Given the description of an element on the screen output the (x, y) to click on. 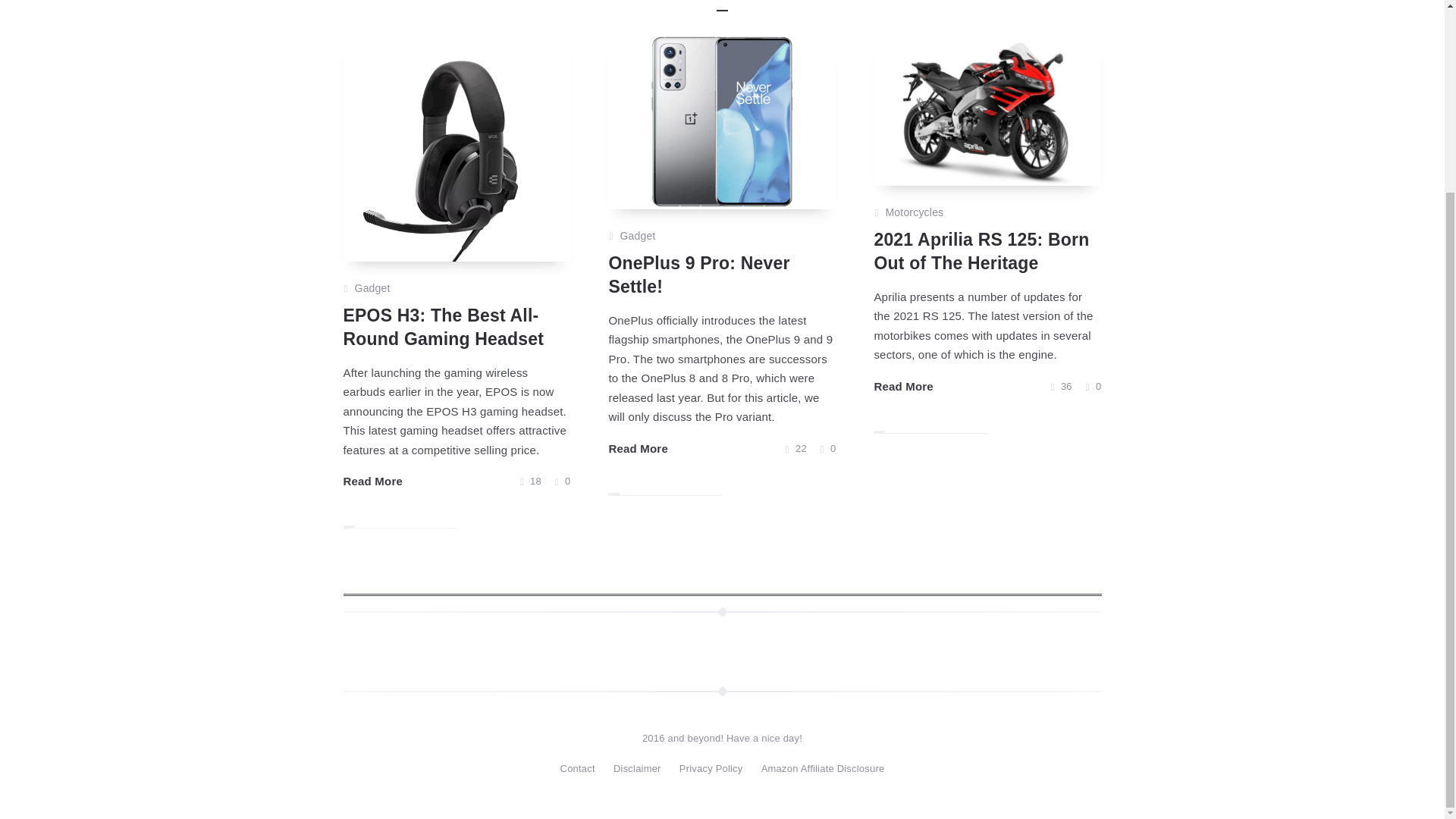
Read More (372, 481)
OnePlus 9 Pro: Never Settle! (698, 274)
Read More (638, 448)
22 (796, 448)
18 (530, 481)
EPOS H3: The Best All-Round Gaming Headset (442, 326)
Gadget (372, 289)
Gadget (637, 236)
